Given the description of an element on the screen output the (x, y) to click on. 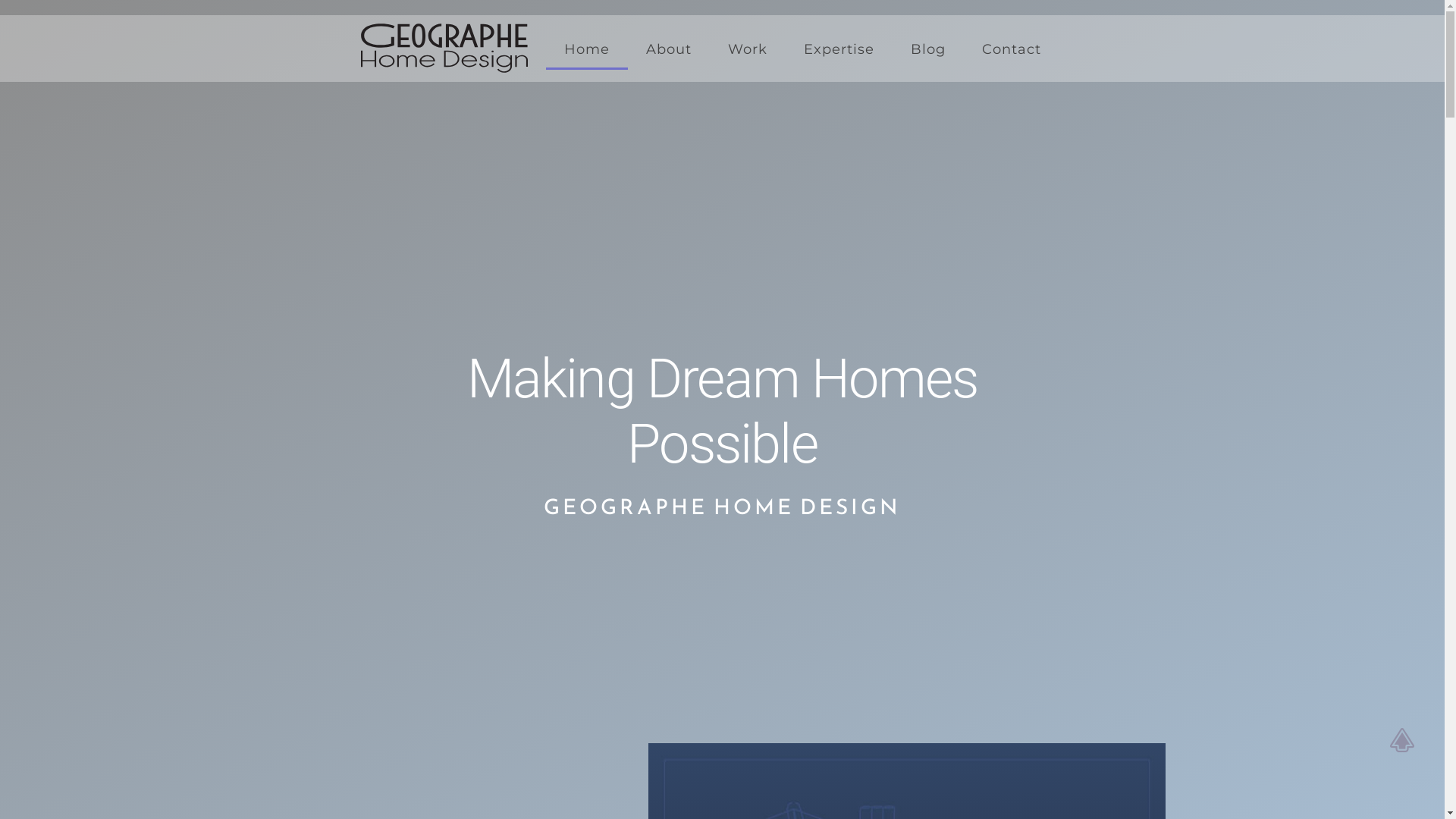
Work Element type: text (747, 49)
scroll down Element type: text (722, 594)
Return to top Element type: hover (1405, 739)
Home Element type: text (586, 50)
Contact Element type: text (1011, 49)
Expertise Element type: text (838, 49)
Blog Element type: text (927, 49)
About Element type: text (668, 49)
Home Page Element type: hover (453, 36)
